Given the description of an element on the screen output the (x, y) to click on. 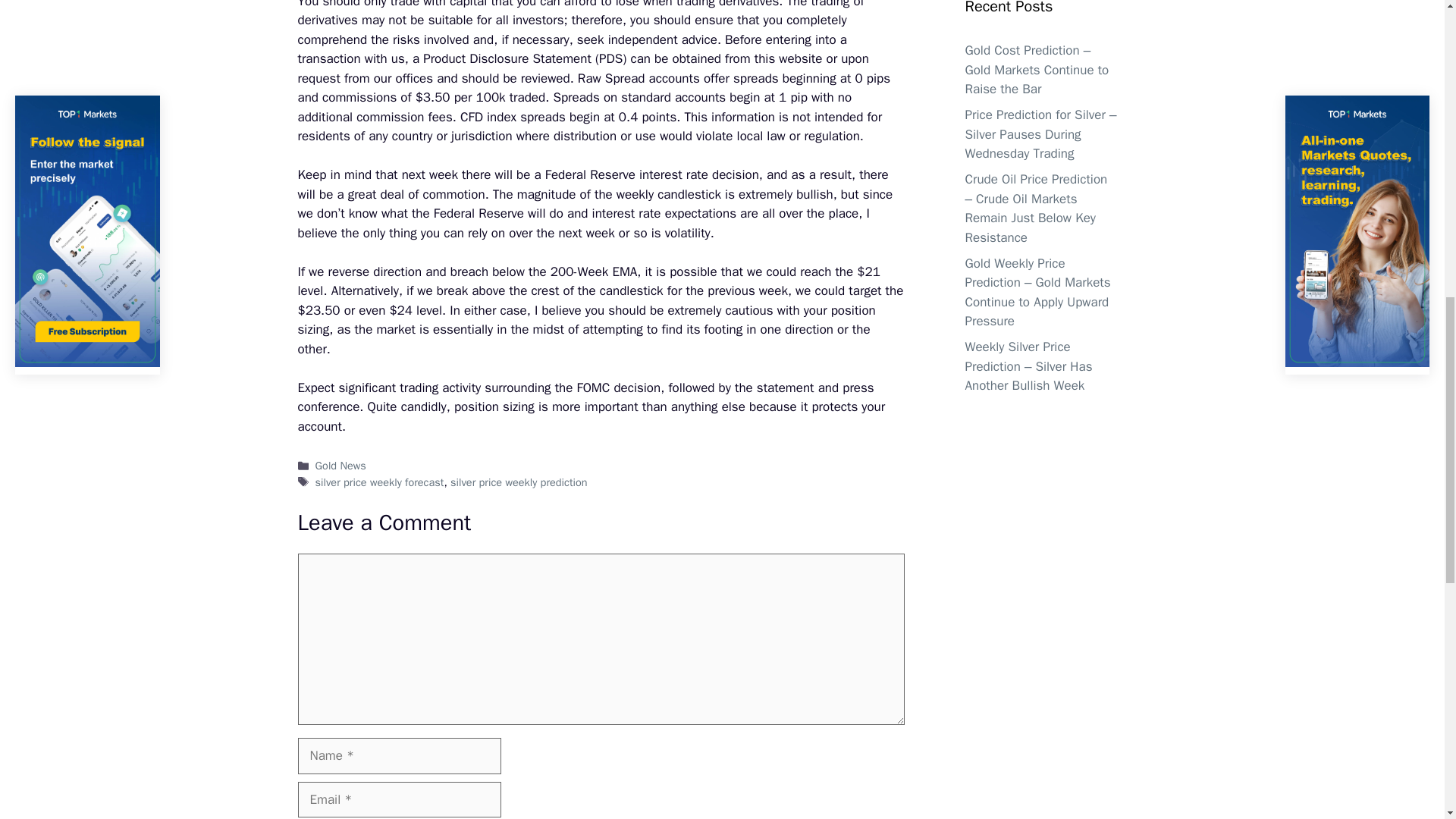
Federal Reserve (478, 213)
CFD index spreads (513, 116)
silver price weekly forecast (379, 481)
silver price weekly prediction (517, 481)
Gold News (340, 465)
